Given the description of an element on the screen output the (x, y) to click on. 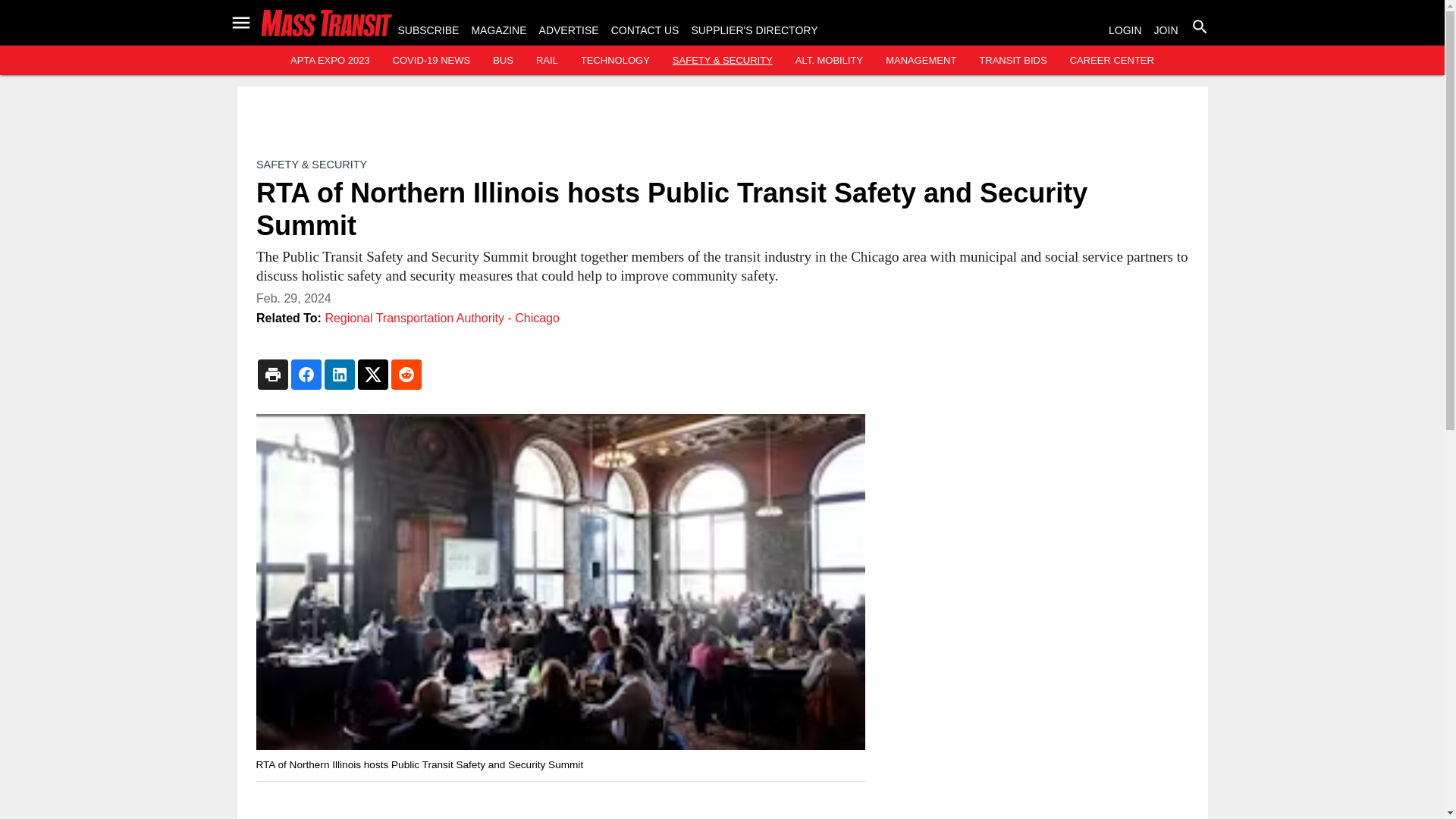
JOIN (1165, 30)
ALT. MOBILITY (828, 60)
RAIL (546, 60)
CONTACT US (645, 30)
MAGAZINE (497, 30)
LOGIN (1124, 30)
ADVERTISE (568, 30)
SUPPLIER'S DIRECTORY (753, 30)
MANAGEMENT (920, 60)
CAREER CENTER (1112, 60)
TECHNOLOGY (614, 60)
TRANSIT BIDS (1012, 60)
SUBSCRIBE (427, 30)
BUS (503, 60)
